Given the description of an element on the screen output the (x, y) to click on. 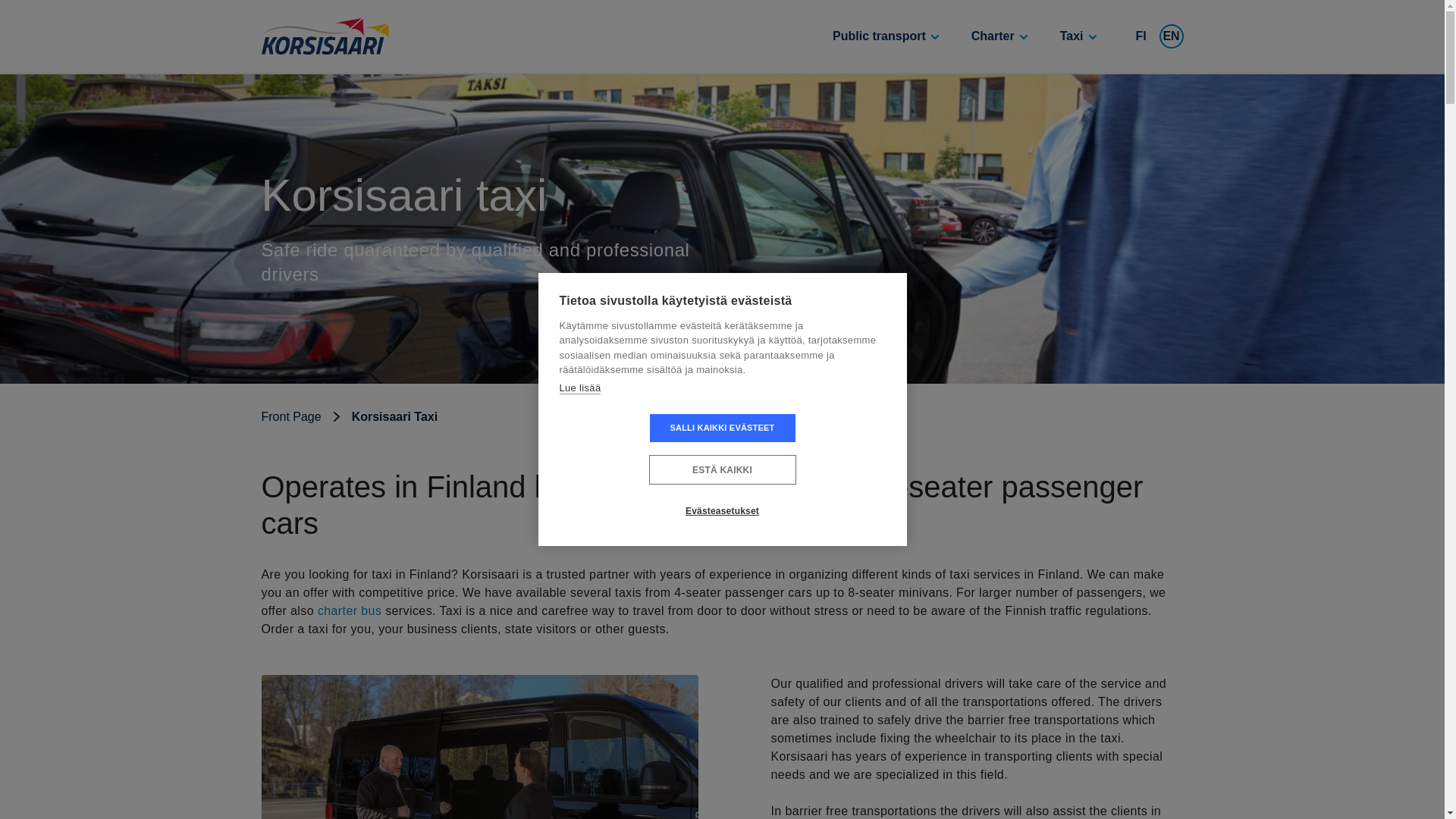
Front Page (293, 417)
Korsisaari Taxi (382, 417)
EN (1170, 36)
charter bus (349, 610)
FI (1140, 36)
Korsisaari (324, 36)
